Given the description of an element on the screen output the (x, y) to click on. 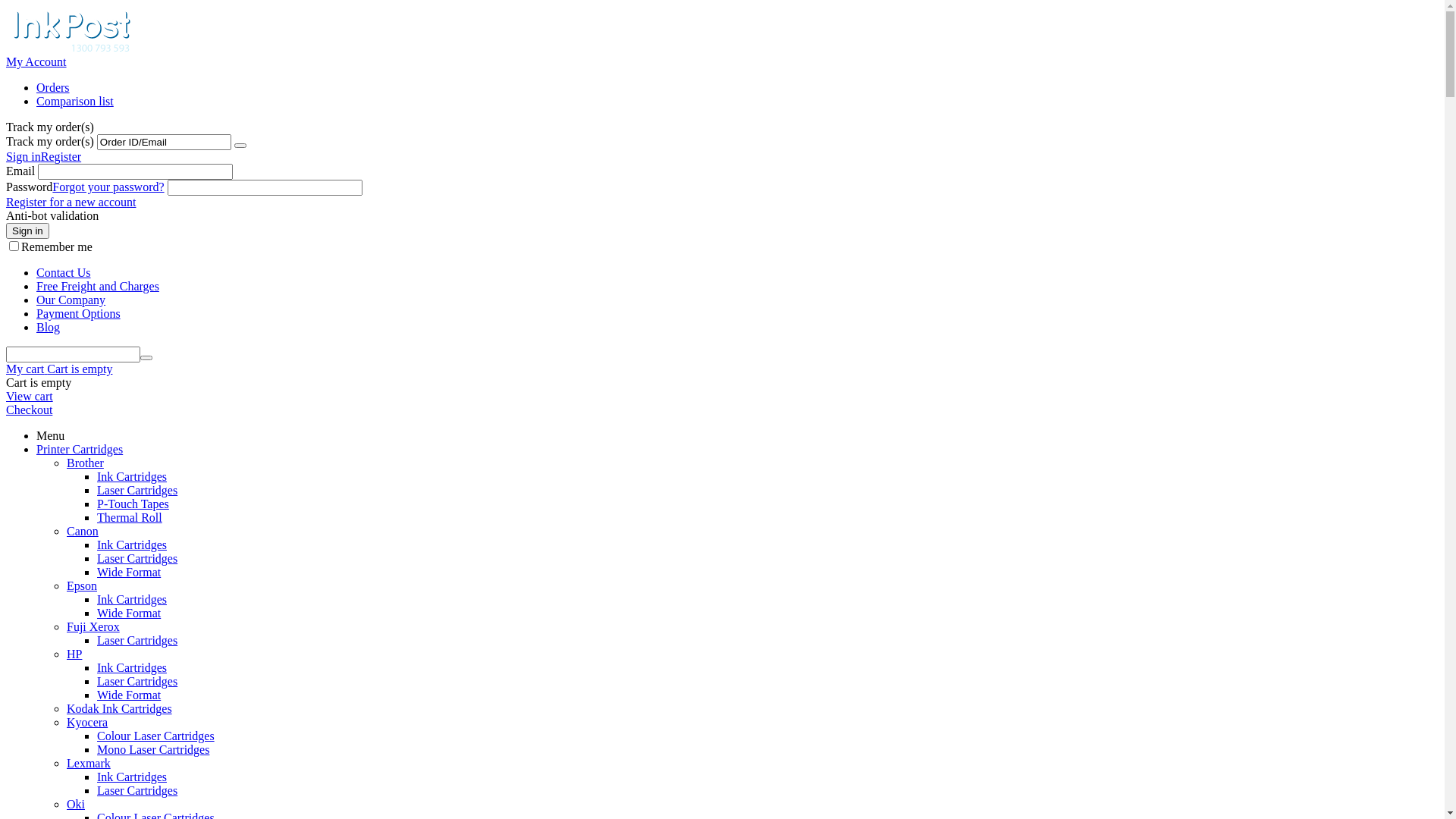
Ink Post Printer Cartridges Element type: hover (68, 47)
Epson Element type: text (81, 585)
Ink Cartridges Element type: text (131, 599)
Wide Format Element type: text (128, 571)
Orders Element type: text (52, 87)
Kyocera Element type: text (86, 721)
Register Element type: text (60, 156)
Canon Element type: text (82, 530)
Kodak Ink Cartridges Element type: text (119, 708)
Forgot your password? Element type: text (107, 186)
Wide Format Element type: text (128, 612)
Thermal Roll Element type: text (129, 517)
Laser Cartridges Element type: text (137, 680)
Menu Element type: text (50, 435)
Ink Cartridges Element type: text (131, 667)
Enter printer number or cartridge number Element type: hover (73, 354)
My Account Element type: text (36, 61)
View cart Element type: text (29, 395)
Blog Element type: text (47, 326)
HP Element type: text (73, 653)
Checkout Element type: text (29, 409)
Contact Us Element type: text (63, 272)
Mono Laser Cartridges Element type: text (153, 749)
Register for a new account Element type: text (70, 201)
Laser Cartridges Element type: text (137, 489)
Free Freight and Charges Element type: text (97, 285)
Go Element type: hover (240, 145)
Lexmark Element type: text (88, 762)
Ink Cartridges Element type: text (131, 776)
Ink Cartridges Element type: text (131, 476)
Colour Laser Cartridges Element type: text (155, 735)
Oki Element type: text (75, 803)
Ink Cartridges Element type: text (131, 544)
Payment Options Element type: text (78, 313)
P-Touch Tapes Element type: text (133, 503)
Wide Format Element type: text (128, 694)
Sign in Element type: text (27, 230)
Laser Cartridges Element type: text (137, 790)
Fuji Xerox Element type: text (92, 626)
Laser Cartridges Element type: text (137, 639)
My cart Cart is empty Element type: text (59, 368)
Brother Element type: text (84, 462)
Our Company Element type: text (70, 299)
Comparison list Element type: text (74, 100)
Printer Cartridges Element type: text (79, 448)
Sign in Element type: text (23, 156)
Laser Cartridges Element type: text (137, 558)
Search Element type: hover (146, 357)
